Given the description of an element on the screen output the (x, y) to click on. 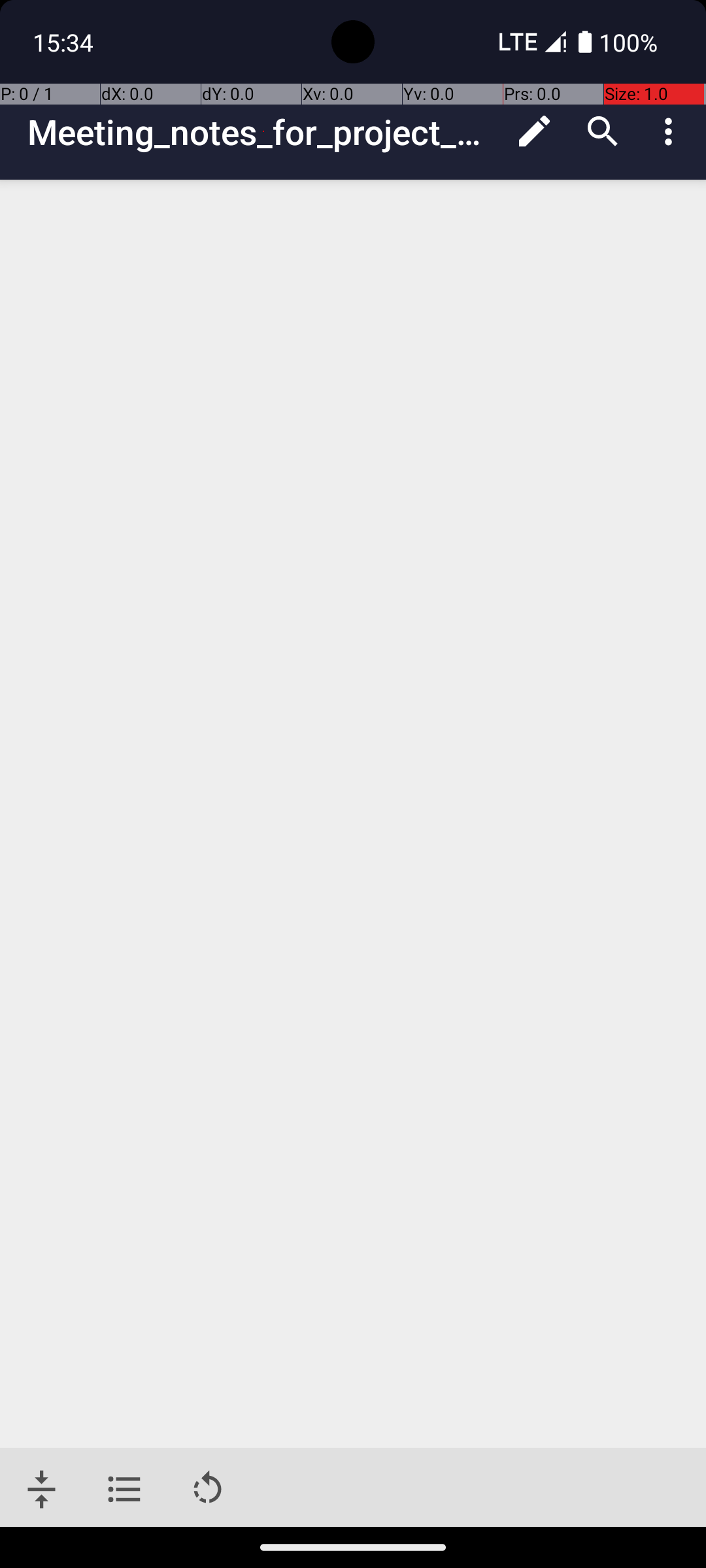
Meeting_notes_for_project_update.txt Element type: android.widget.TextView (263, 131)
